Given the description of an element on the screen output the (x, y) to click on. 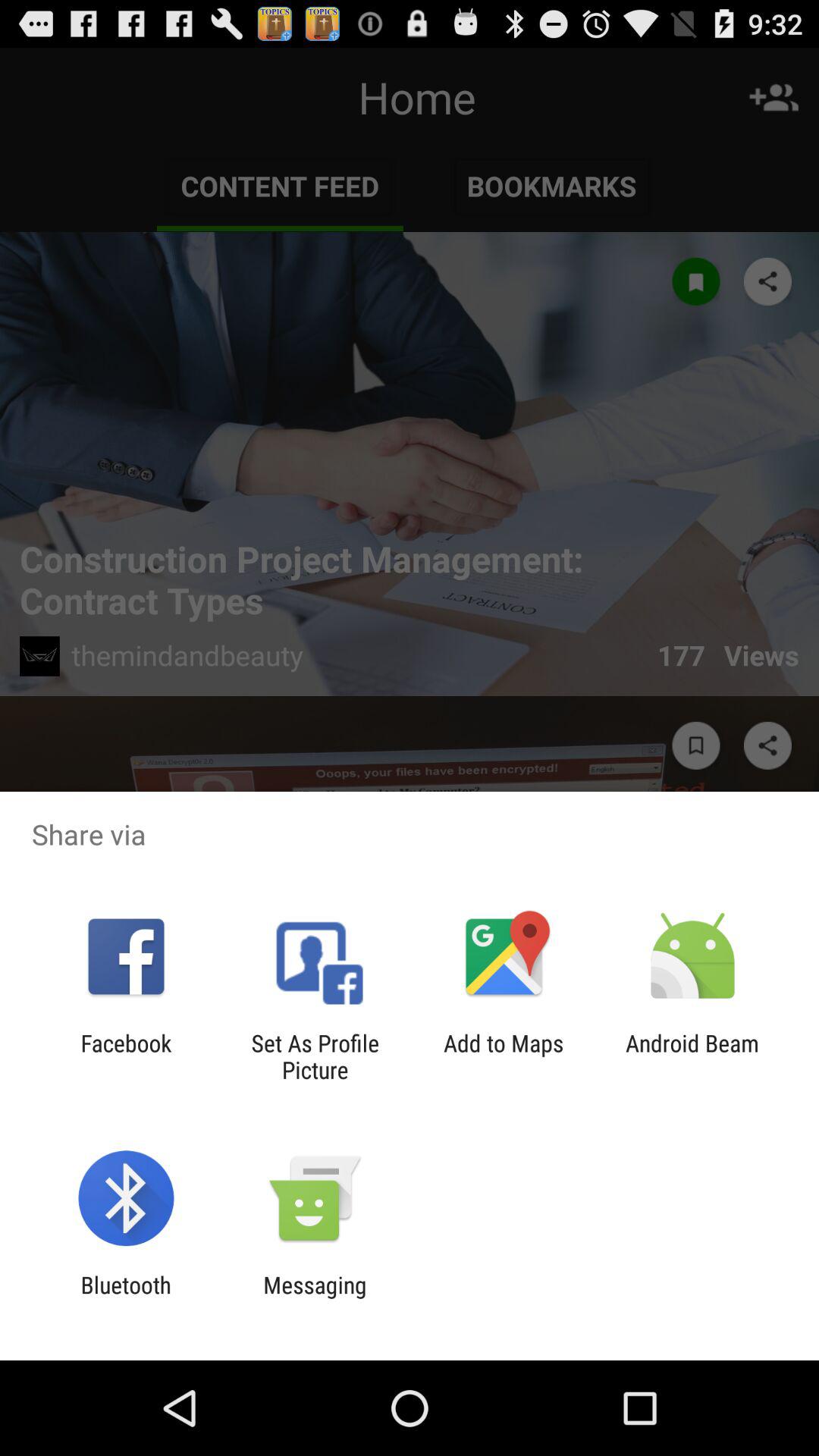
select messaging app (314, 1298)
